Given the description of an element on the screen output the (x, y) to click on. 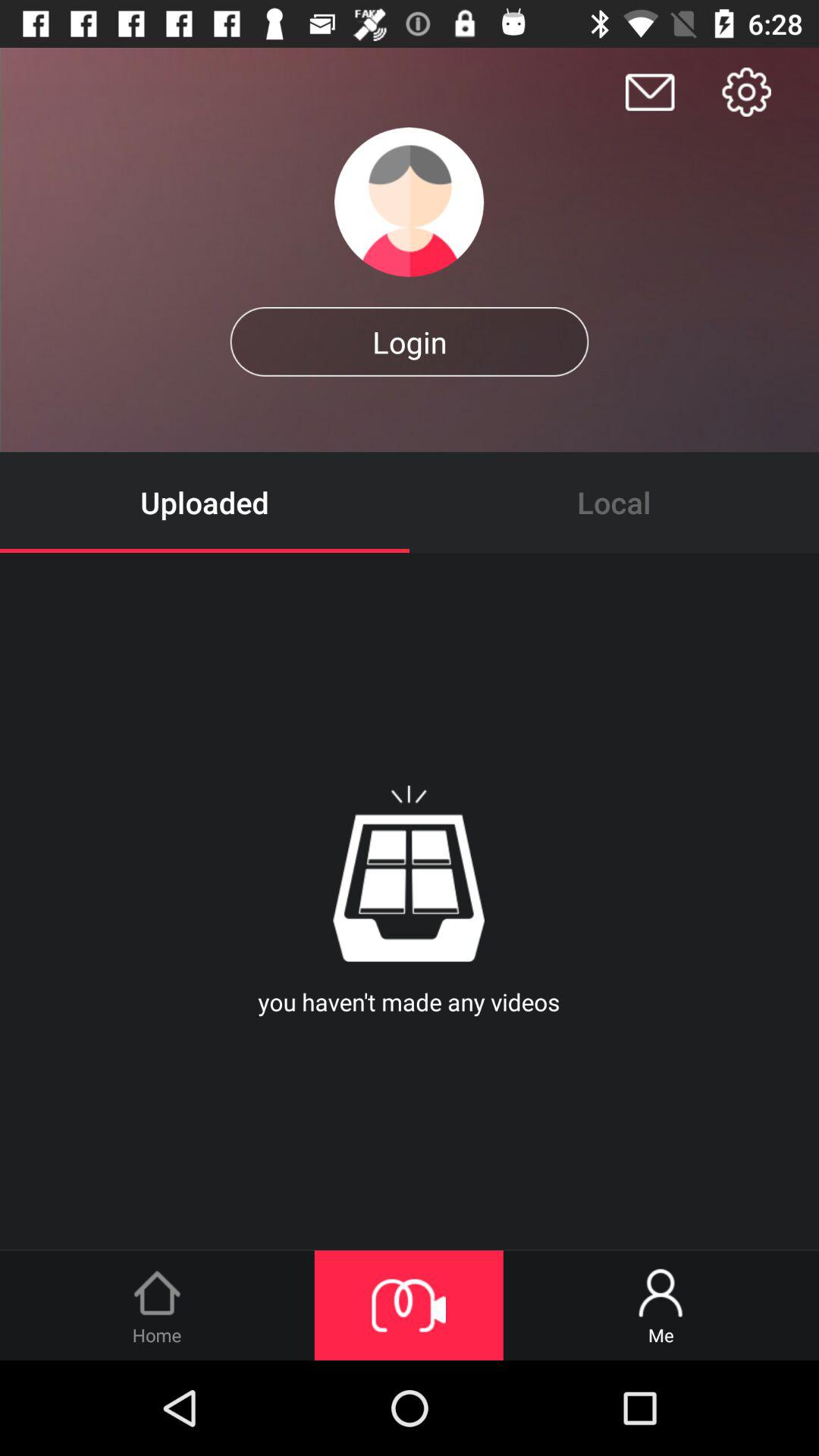
go to settings (746, 91)
